Given the description of an element on the screen output the (x, y) to click on. 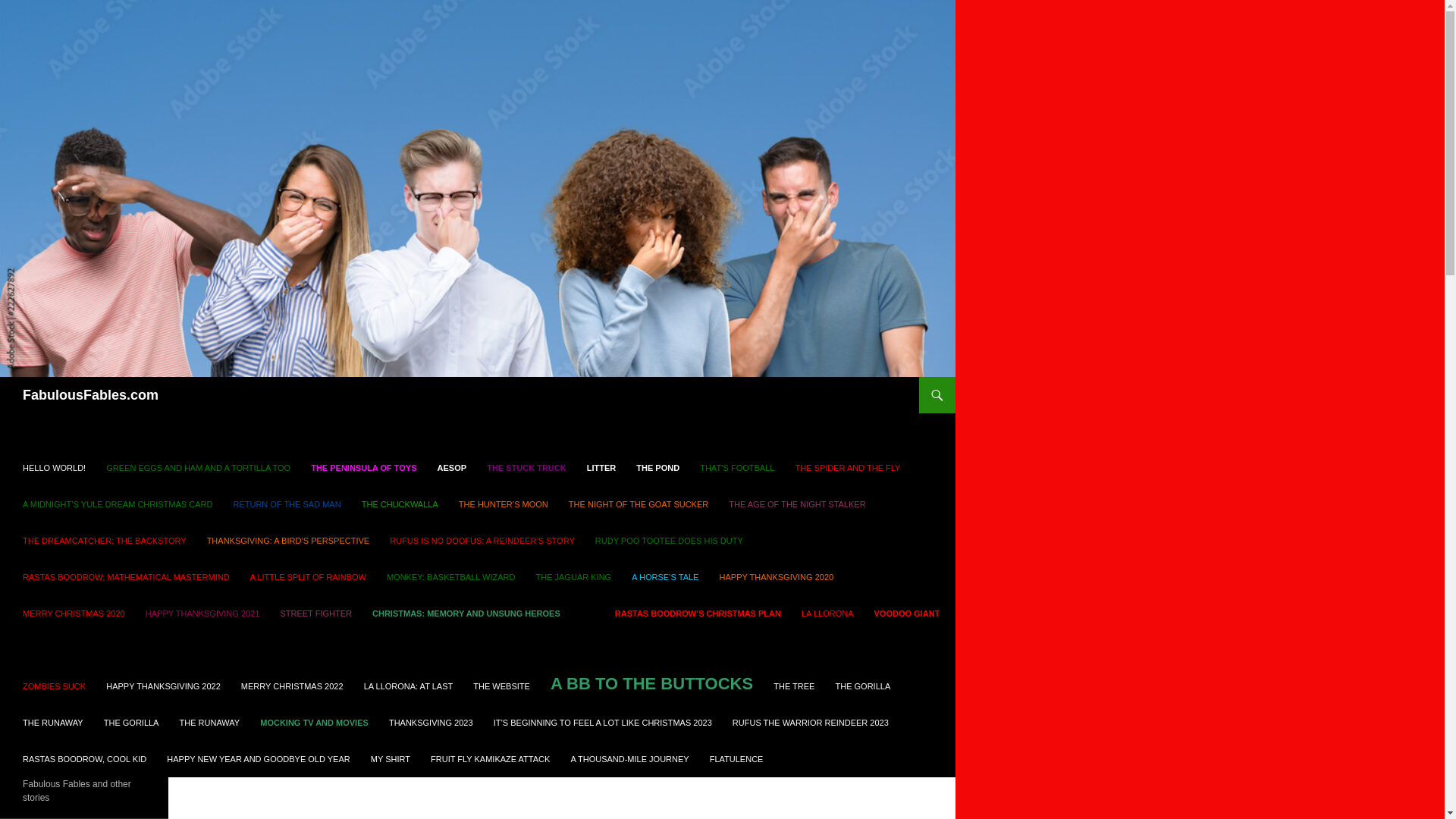
FabulousFables.com (90, 394)
THE STUCK TRUCK (526, 467)
THE POND (657, 467)
THE PENINSULA OF TOYS (363, 476)
HAPPY THANKSGIVING 2021 (202, 622)
RASTAS BOODROW: MATHEMATICAL MASTERMIND (125, 585)
RETURN OF THE SAD MAN (286, 513)
A LITTLE SPLIT OF RAINBOW (308, 585)
RUDY POO TOOTEE DOES HIS DUTY (669, 549)
MERRY CHRISTMAS 2020 (73, 622)
HAPPY THANKSGIVING 2020 (776, 585)
THE AGE OF THE NIGHT STALKER (797, 513)
LITTER (602, 467)
